Given the description of an element on the screen output the (x, y) to click on. 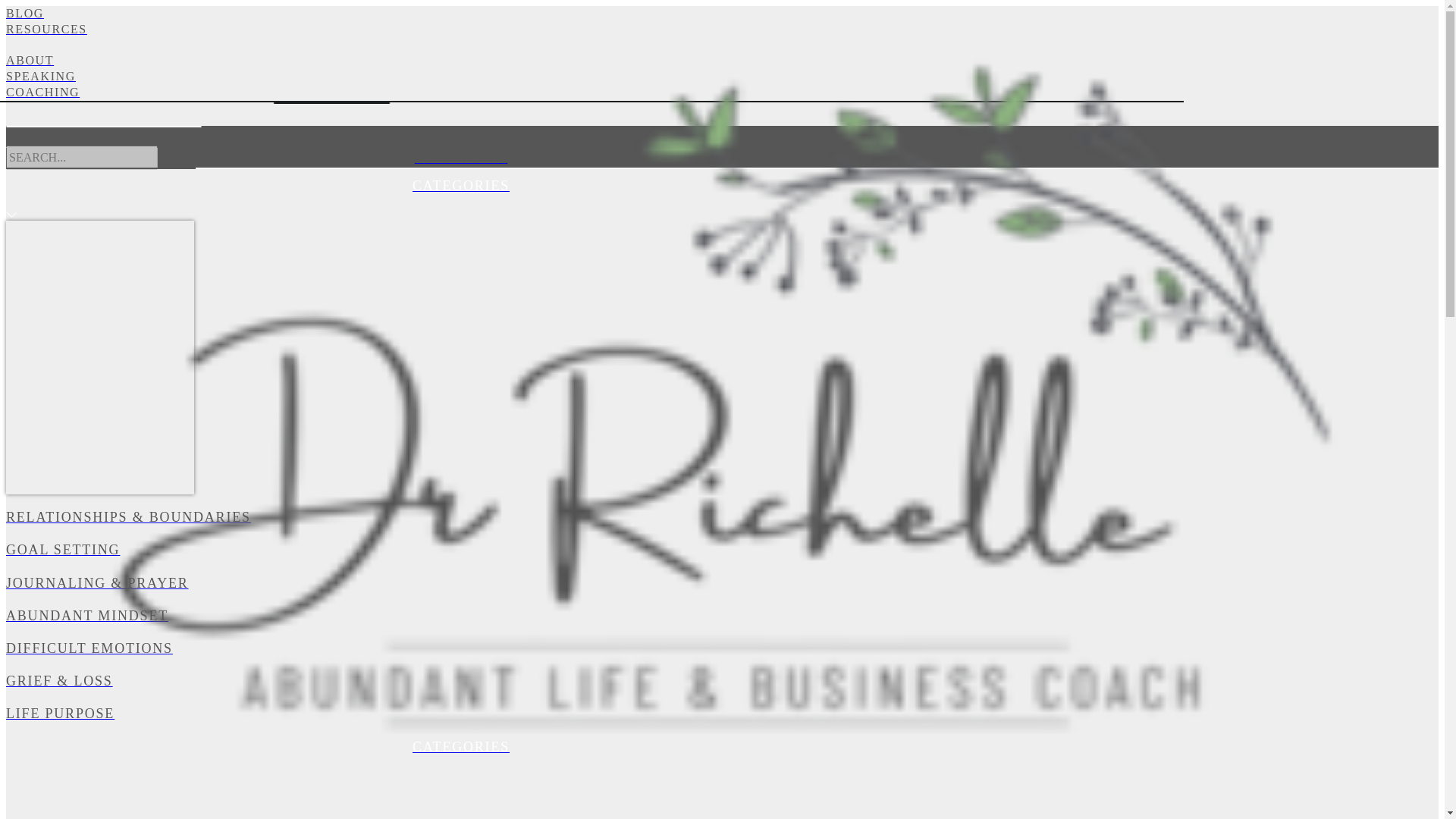
BLOG (460, 13)
SPEAKING (460, 76)
LIFE PURPOSE (460, 713)
RESOURCES (460, 38)
CATEGORIES (460, 746)
DIFFICULT EMOTIONS (460, 648)
COACHING (460, 92)
ABOUT (460, 60)
CATEGORIES (460, 185)
GOAL SETTING (460, 549)
ABUNDANT MINDSET (460, 615)
BOOK A CALL (460, 158)
